Given the description of an element on the screen output the (x, y) to click on. 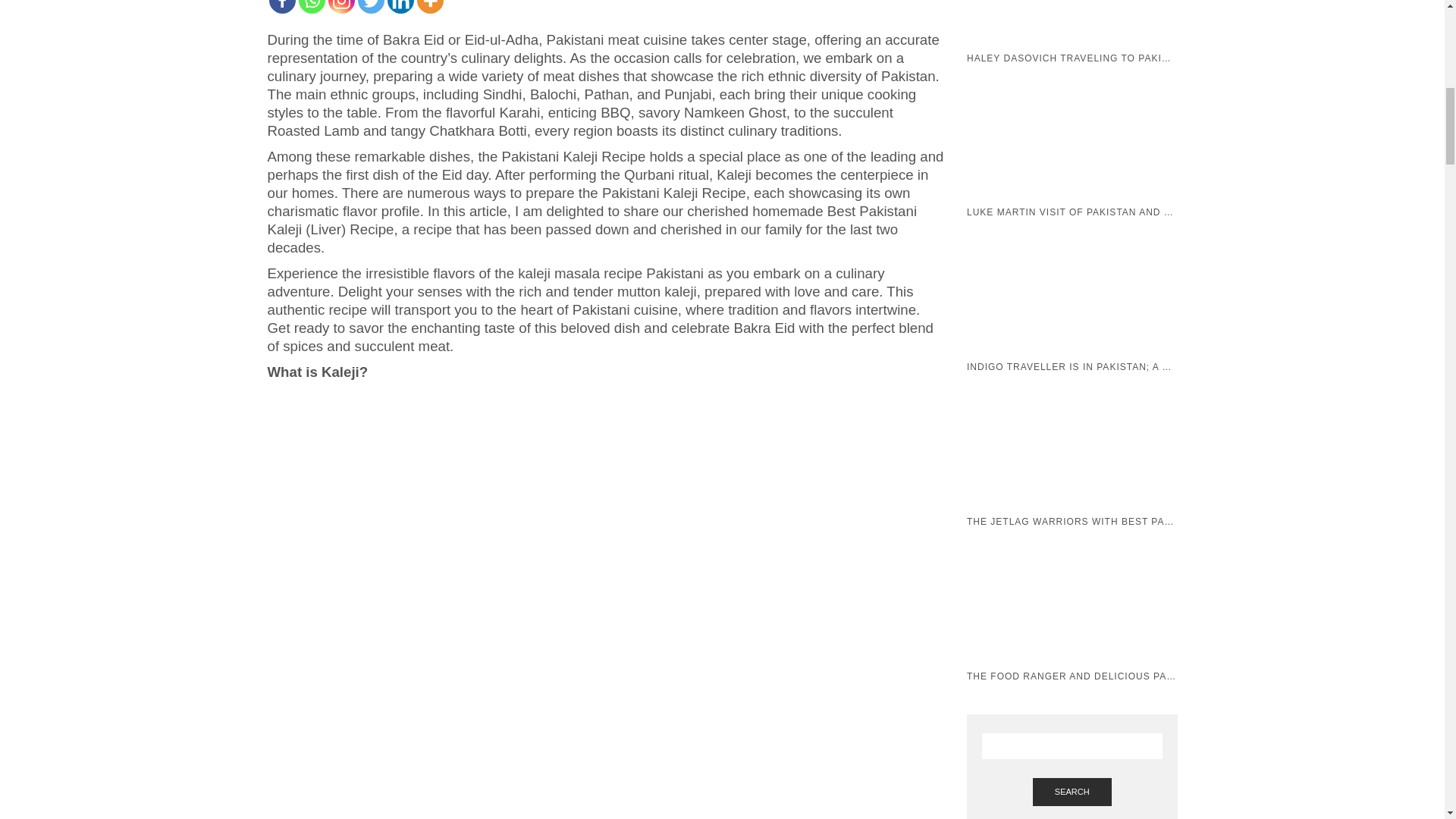
Whatsapp (311, 6)
More (430, 6)
Instagram (340, 6)
Linkedin (400, 6)
Facebook (281, 6)
Twitter (371, 6)
